Given the description of an element on the screen output the (x, y) to click on. 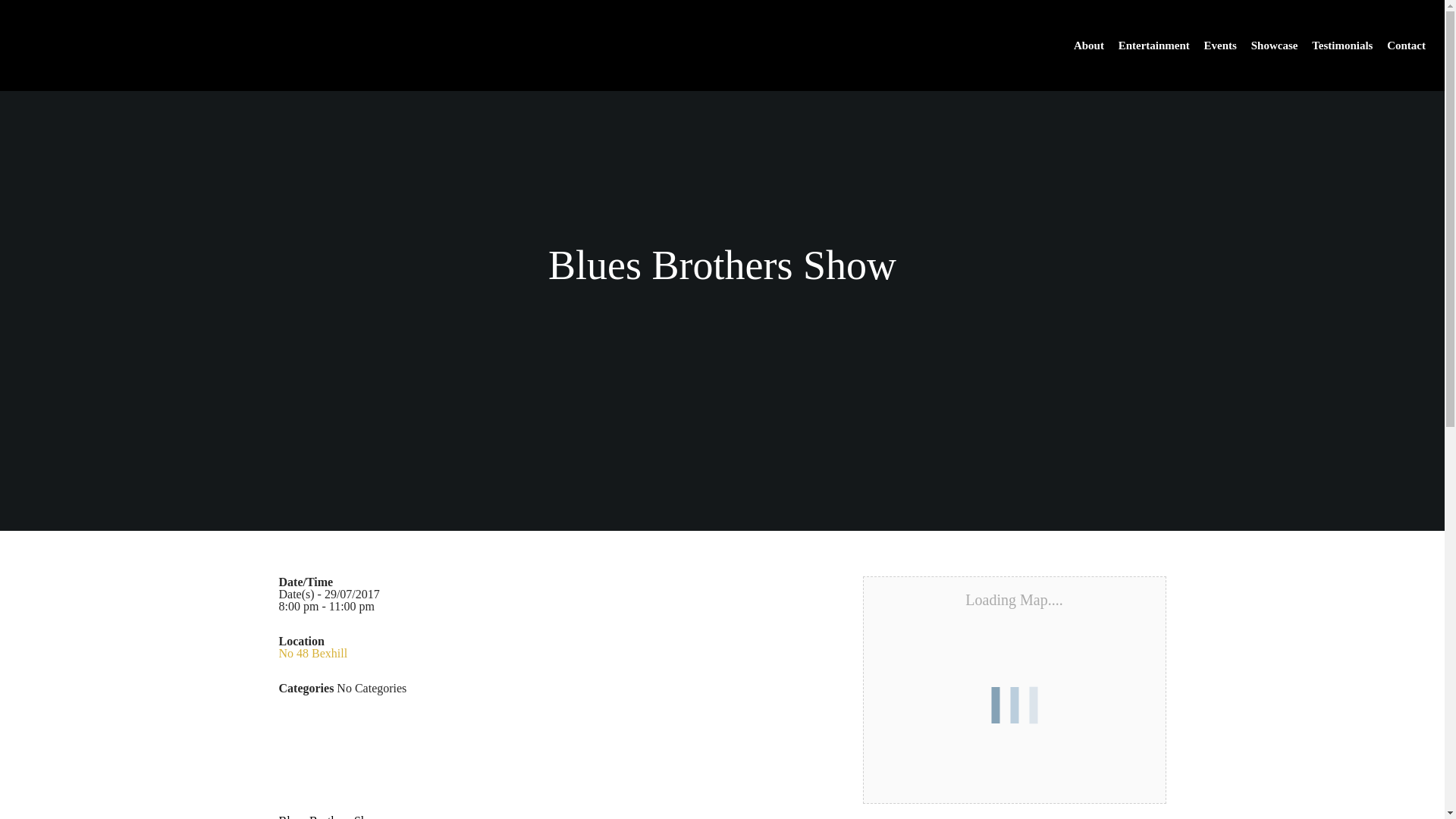
No 48 Bexhill (313, 653)
